Given the description of an element on the screen output the (x, y) to click on. 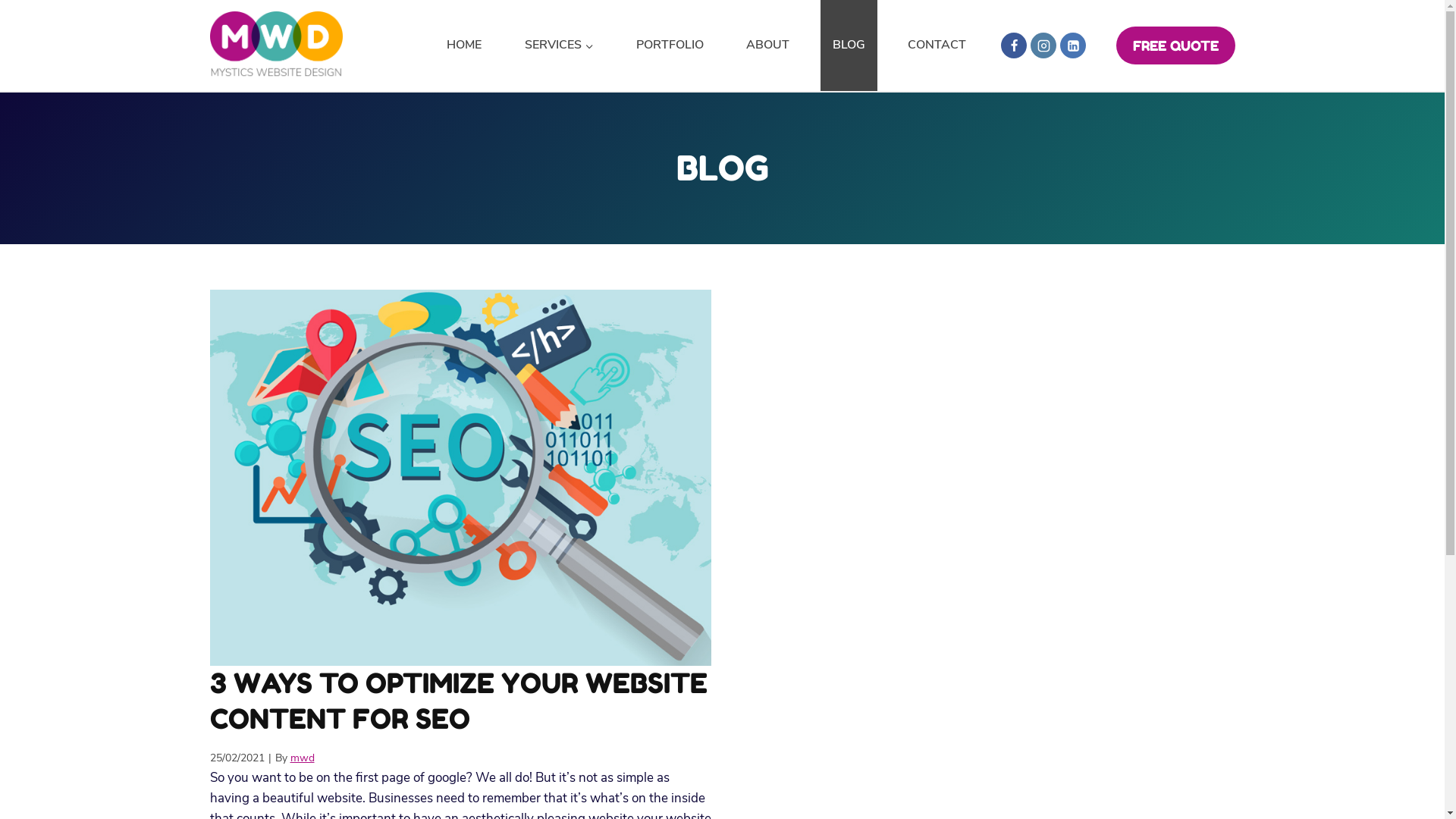
PORTFOLIO Element type: text (669, 45)
BLOG Element type: text (848, 45)
mwd Element type: text (301, 757)
3 WAYS TO OPTIMIZE YOUR WEBSITE CONTENT FOR SEO Element type: text (459, 701)
SERVICES Element type: text (558, 45)
CONTACT Element type: text (936, 45)
ABOUT Element type: text (767, 45)
HOME Element type: text (463, 45)
FREE QUOTE Element type: text (1175, 45)
